Given the description of an element on the screen output the (x, y) to click on. 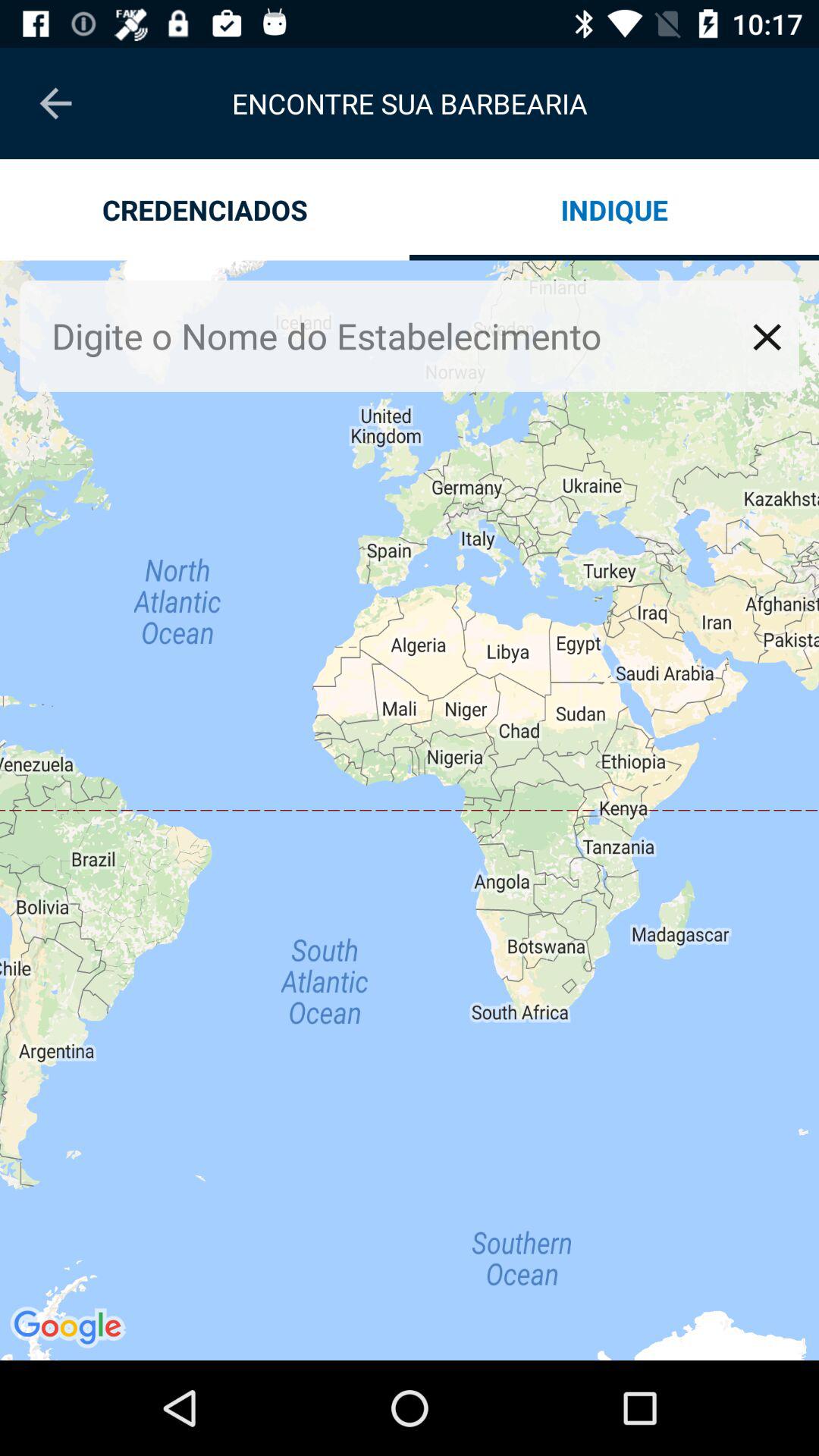
turn off the app below the credenciados app (397, 336)
